Given the description of an element on the screen output the (x, y) to click on. 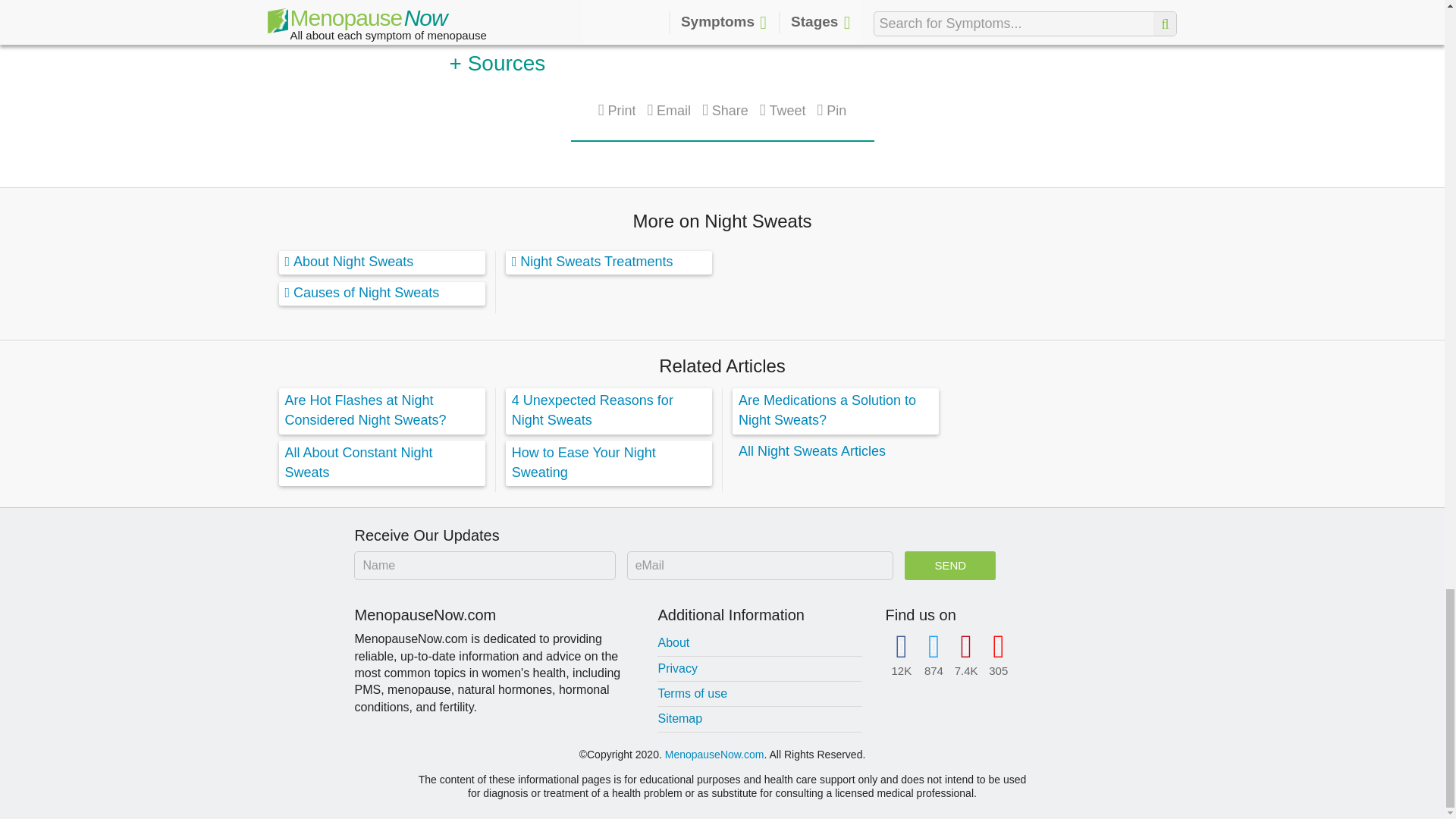
Share on Pinterest (831, 109)
Share on Twitter (783, 109)
Share on Facebook (724, 109)
Email this page (668, 109)
Print this page (617, 109)
